Given the description of an element on the screen output the (x, y) to click on. 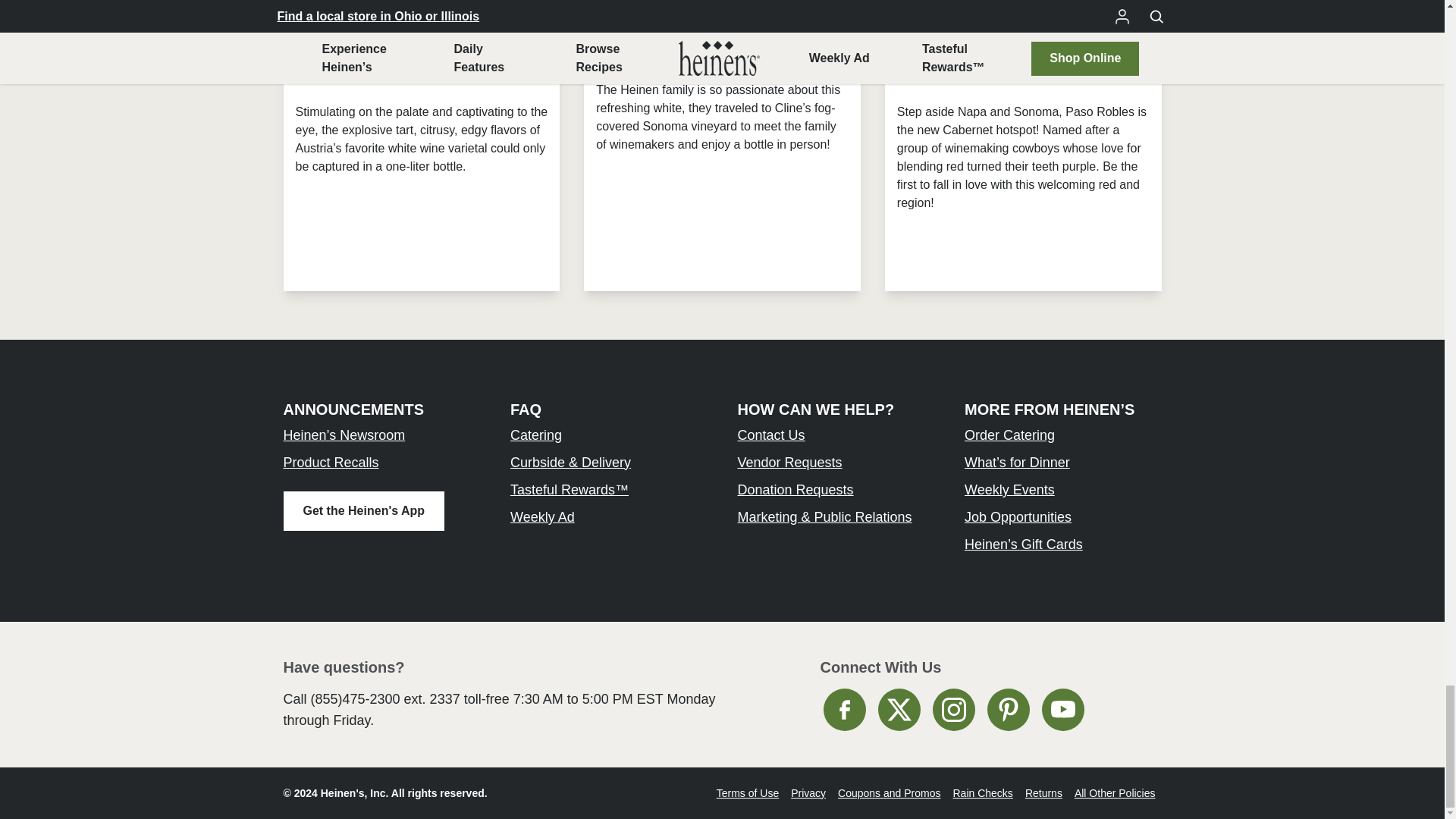
Connect with Heinen's on Instagram (954, 709)
Connect with Heinen's on Facebook (845, 709)
Connect with Heinen's on Pinterest (1008, 709)
Connect with Heinen's on X (898, 709)
Connect with Heinen's on YouTube (1063, 709)
